Given the description of an element on the screen output the (x, y) to click on. 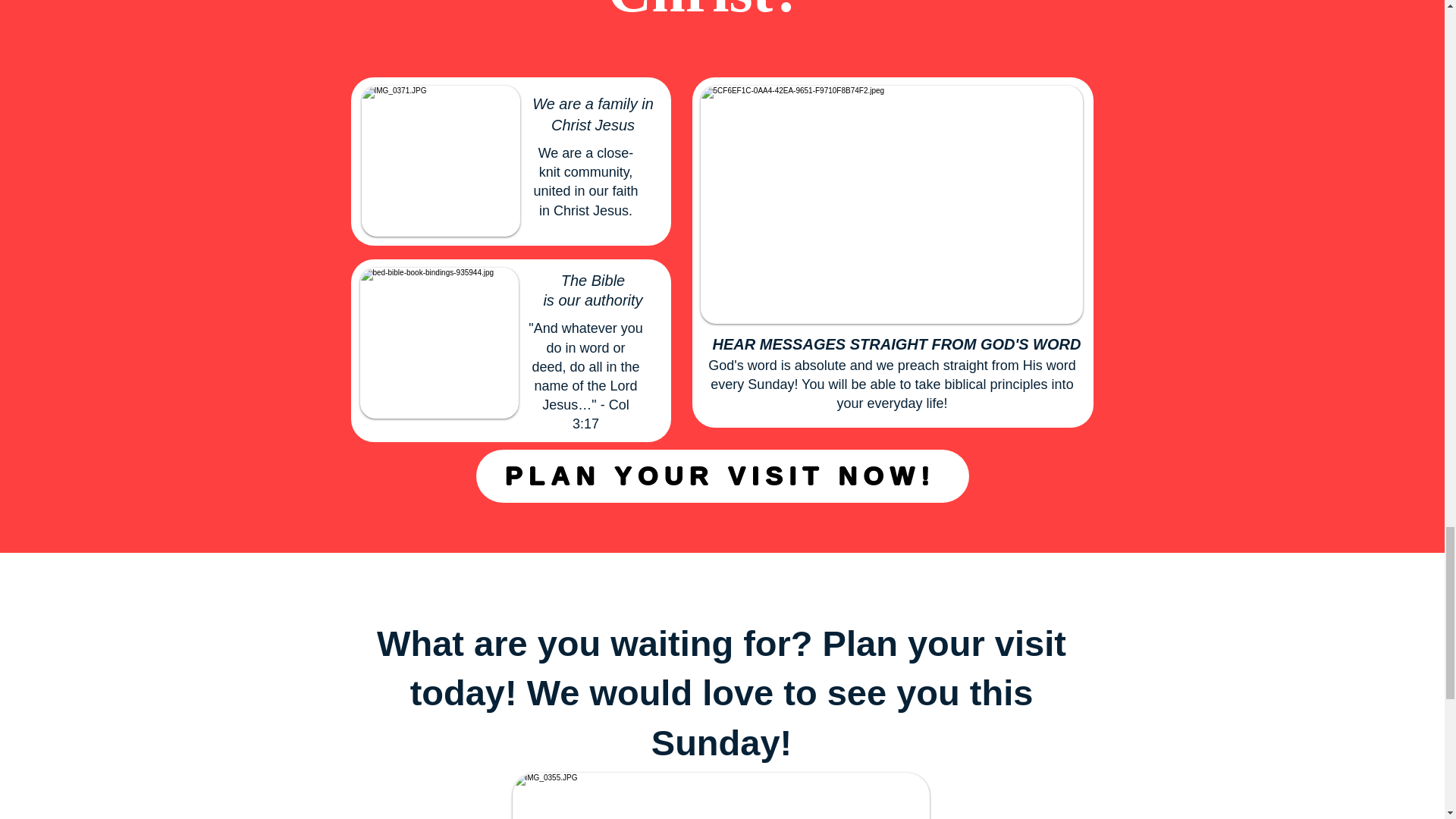
unnamed.jpg (440, 160)
PLAN YOUR VISIT NOW! (722, 475)
Young Model (891, 204)
unnamed.jpg (438, 342)
